Given the description of an element on the screen output the (x, y) to click on. 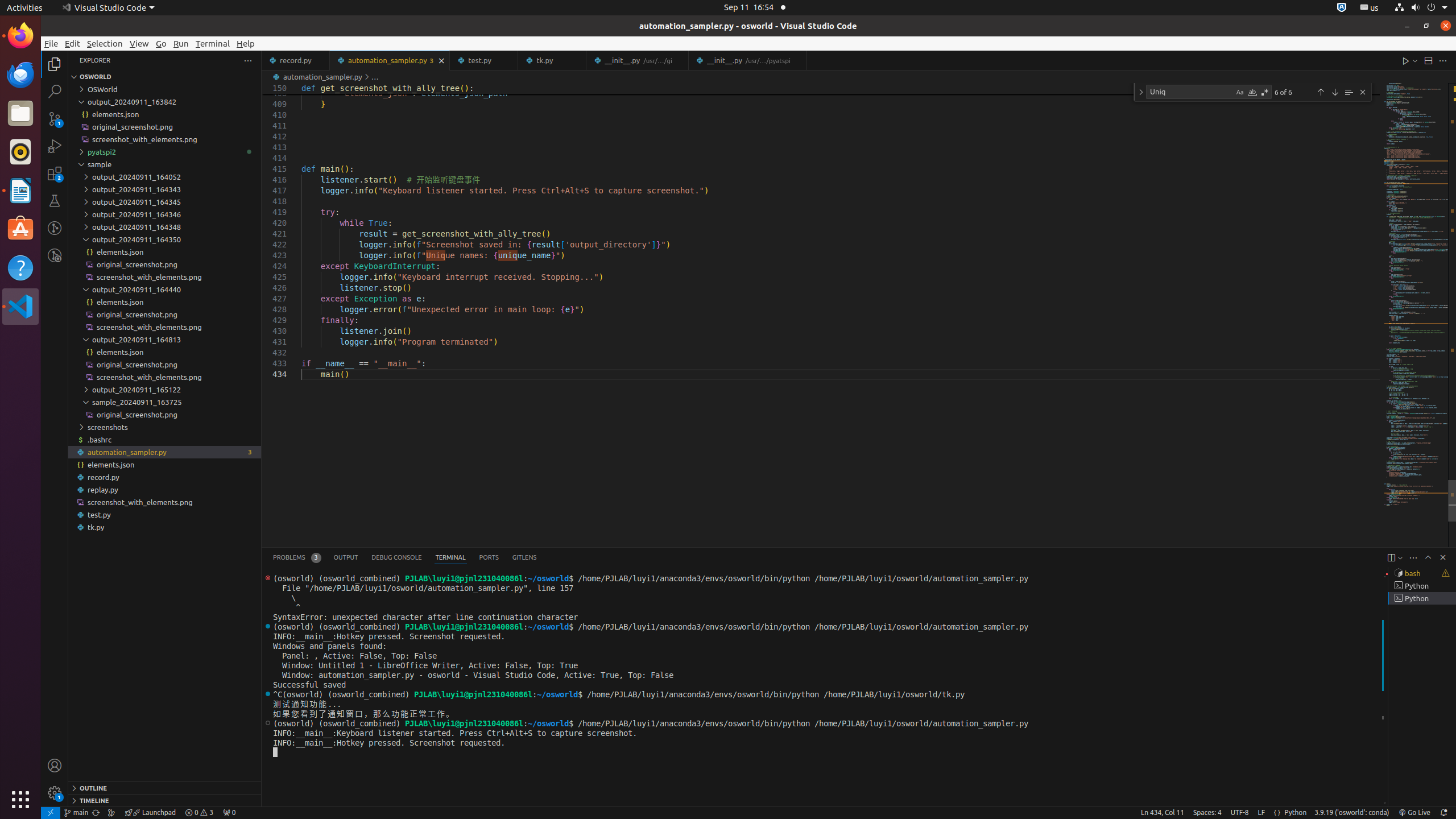
OSWorld Element type: tree-item (164, 89)
__init__.py Element type: page-tab (747, 60)
test.py Element type: page-tab (483, 60)
